Given the description of an element on the screen output the (x, y) to click on. 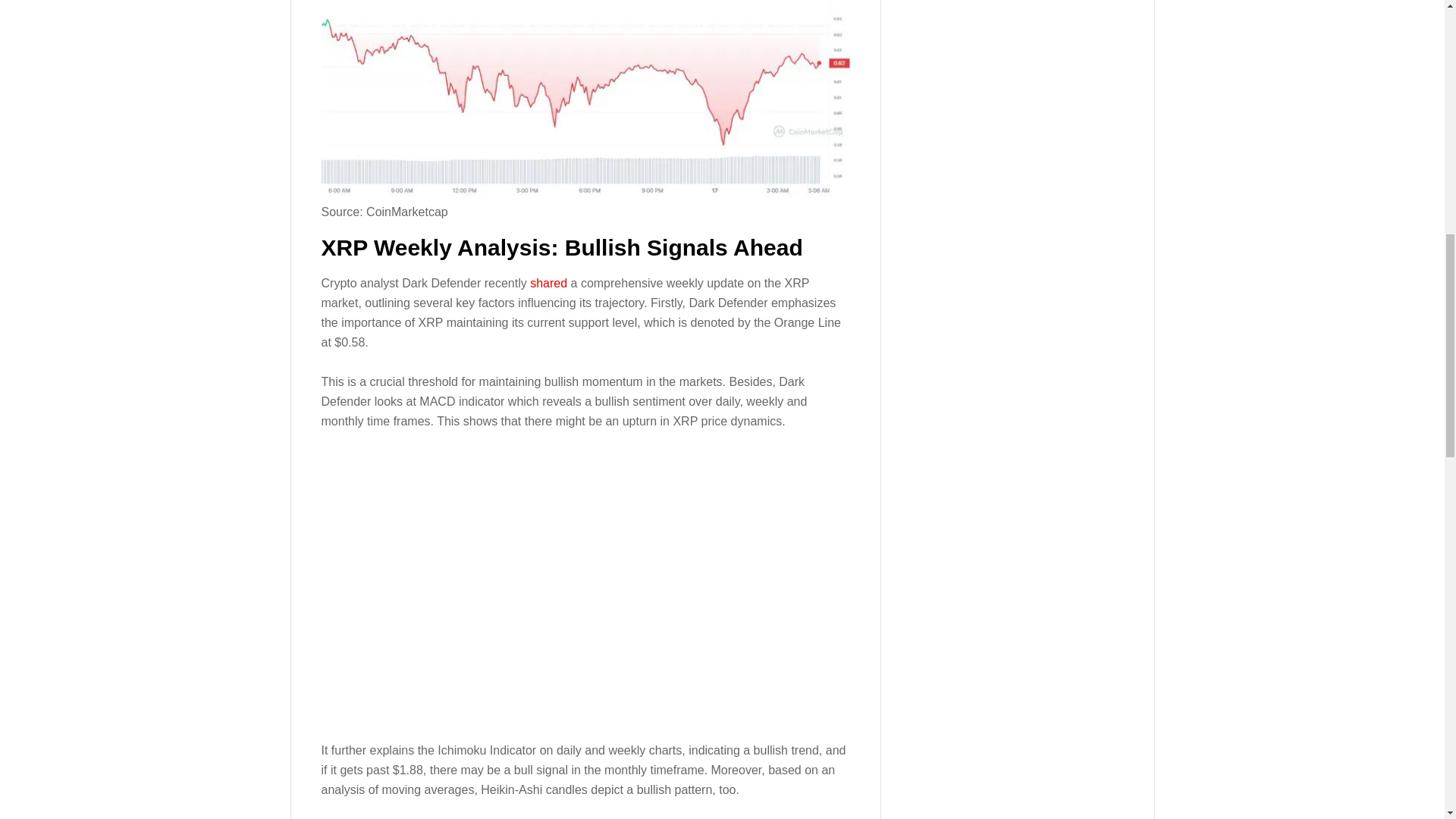
shared (549, 282)
